Given the description of an element on the screen output the (x, y) to click on. 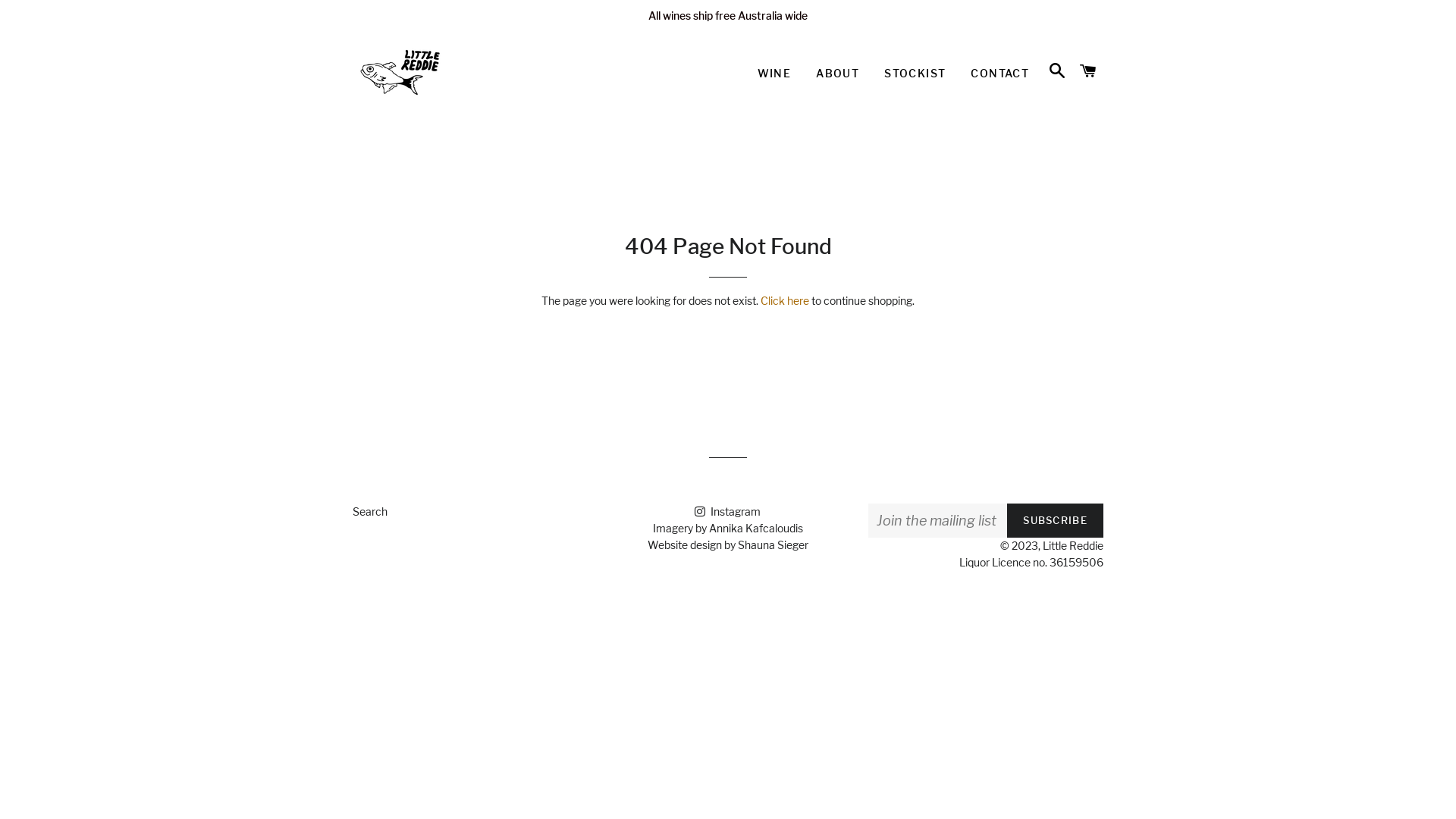
CART Element type: text (1088, 71)
CONTACT Element type: text (999, 73)
SUBSCRIBE Element type: text (1055, 520)
Search Element type: text (369, 511)
WINE Element type: text (774, 73)
ABOUT Element type: text (837, 73)
Little Reddie Element type: text (1072, 545)
SEARCH Element type: text (1056, 71)
Instagram Element type: text (727, 511)
Click here Element type: text (784, 300)
STOCKIST Element type: text (914, 73)
